Given the description of an element on the screen output the (x, y) to click on. 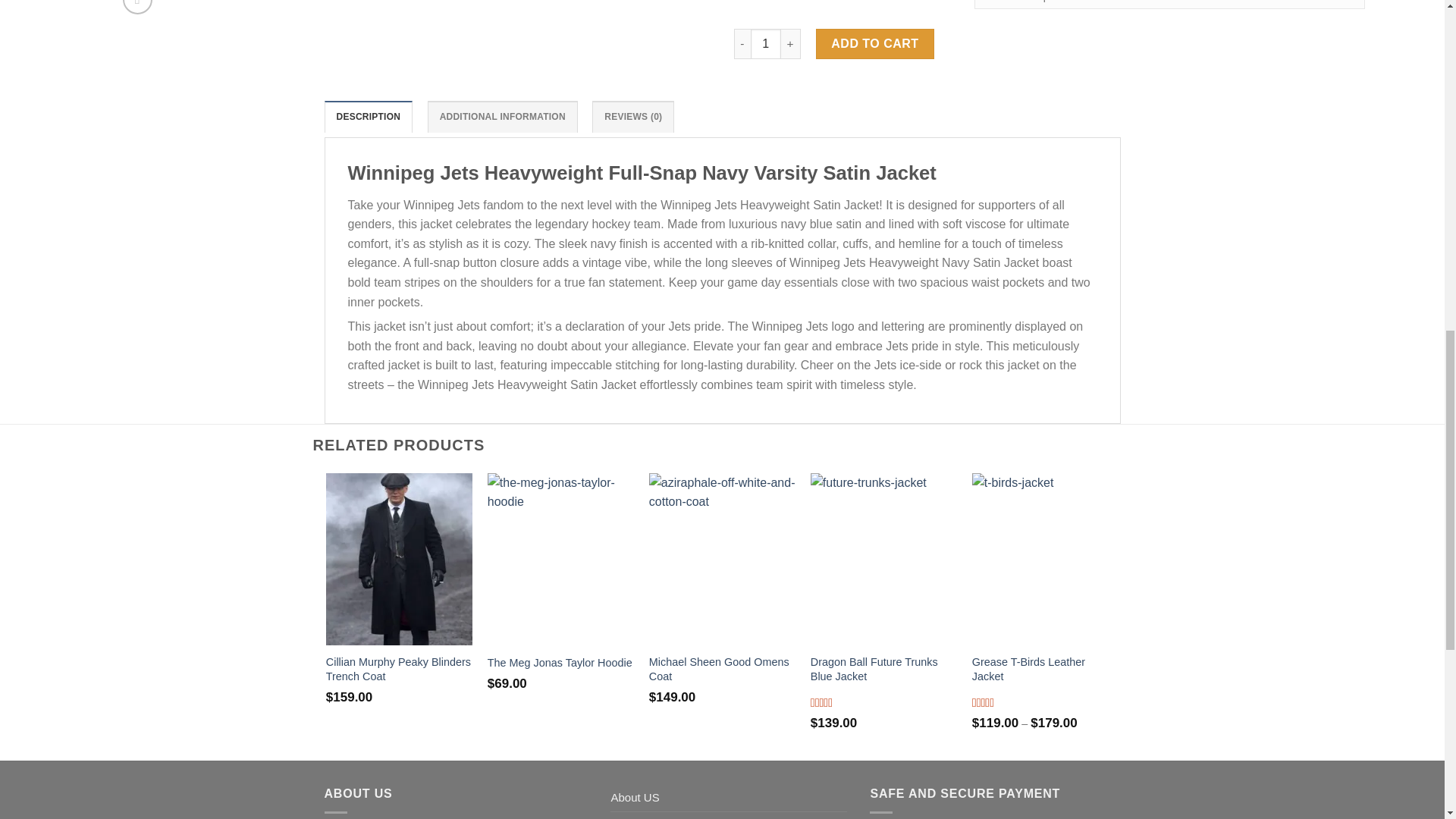
winnipeg-jets-heavyweight-satin-jacket (402, 11)
winnipeg-jets-heavyweight-navy-satin-jacket (980, 11)
1 (765, 43)
